Given the description of an element on the screen output the (x, y) to click on. 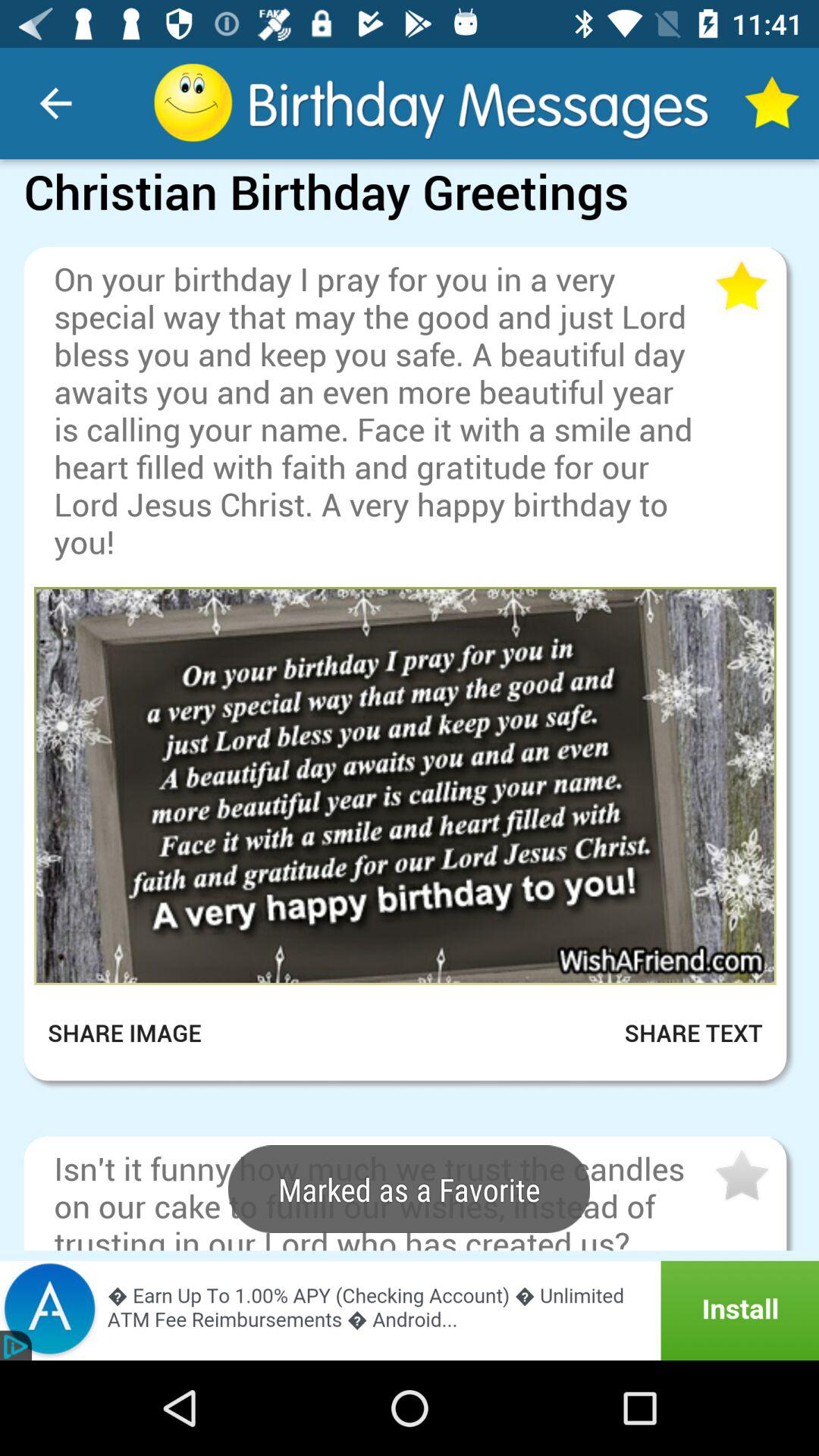
turn on the item below christian birthday greetings item (409, 234)
